Given the description of an element on the screen output the (x, y) to click on. 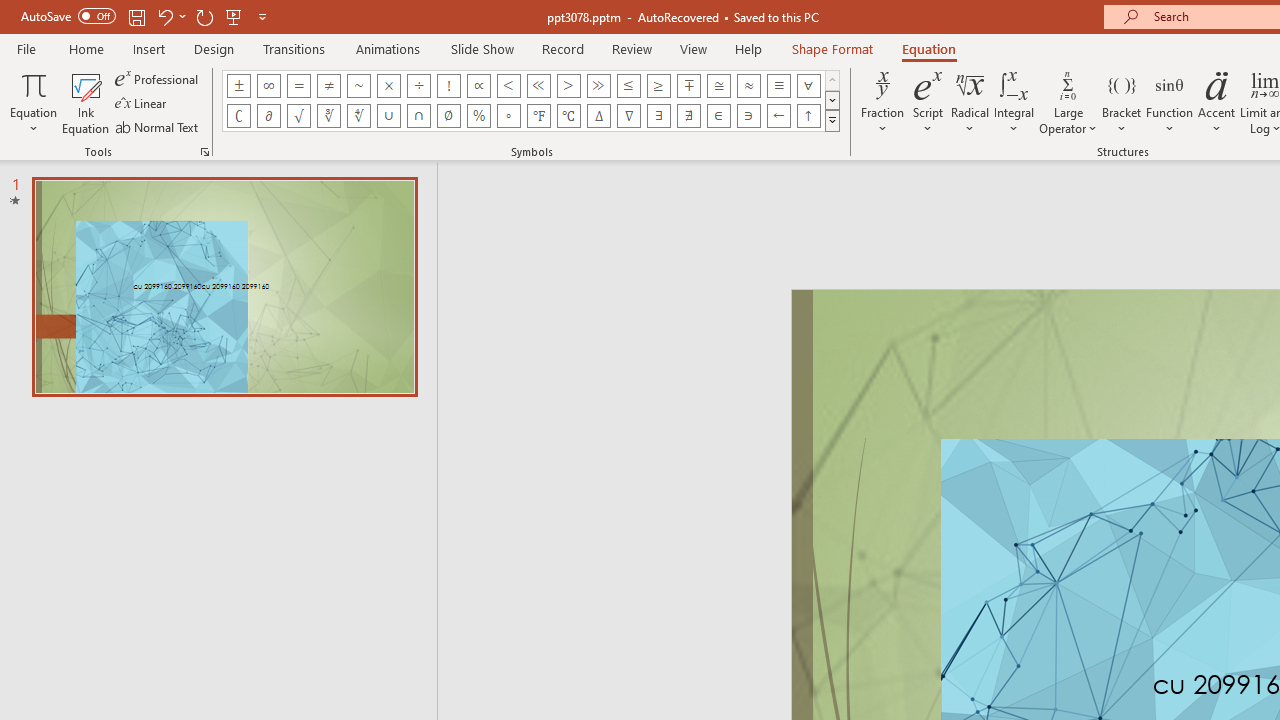
Equation Symbol Degrees Celsius (568, 115)
Equation Symbol Union (388, 115)
Professional (158, 78)
Equation Symbol Partial Differential (268, 115)
Equation Symbol Degrees (508, 115)
Equation Symbol Proportional To (478, 85)
Equation Symbol For All (808, 85)
Equation Symbol Less Than (508, 85)
